Given the description of an element on the screen output the (x, y) to click on. 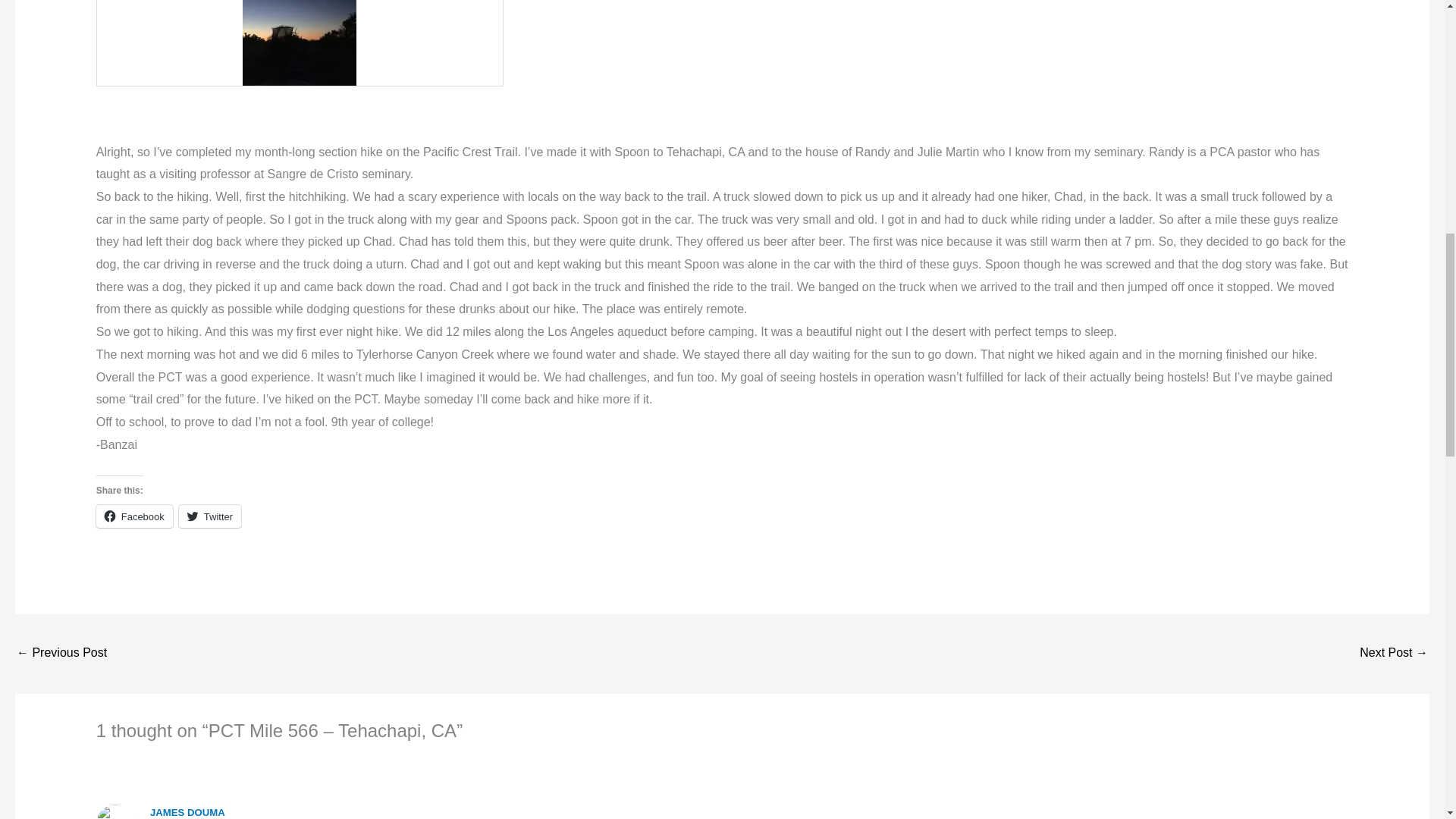
Twitter (210, 516)
Click to share on Twitter (210, 516)
Click to share on Facebook (134, 516)
PCT Mile 517 - Hikertown (61, 653)
Facebook (134, 516)
